Given the description of an element on the screen output the (x, y) to click on. 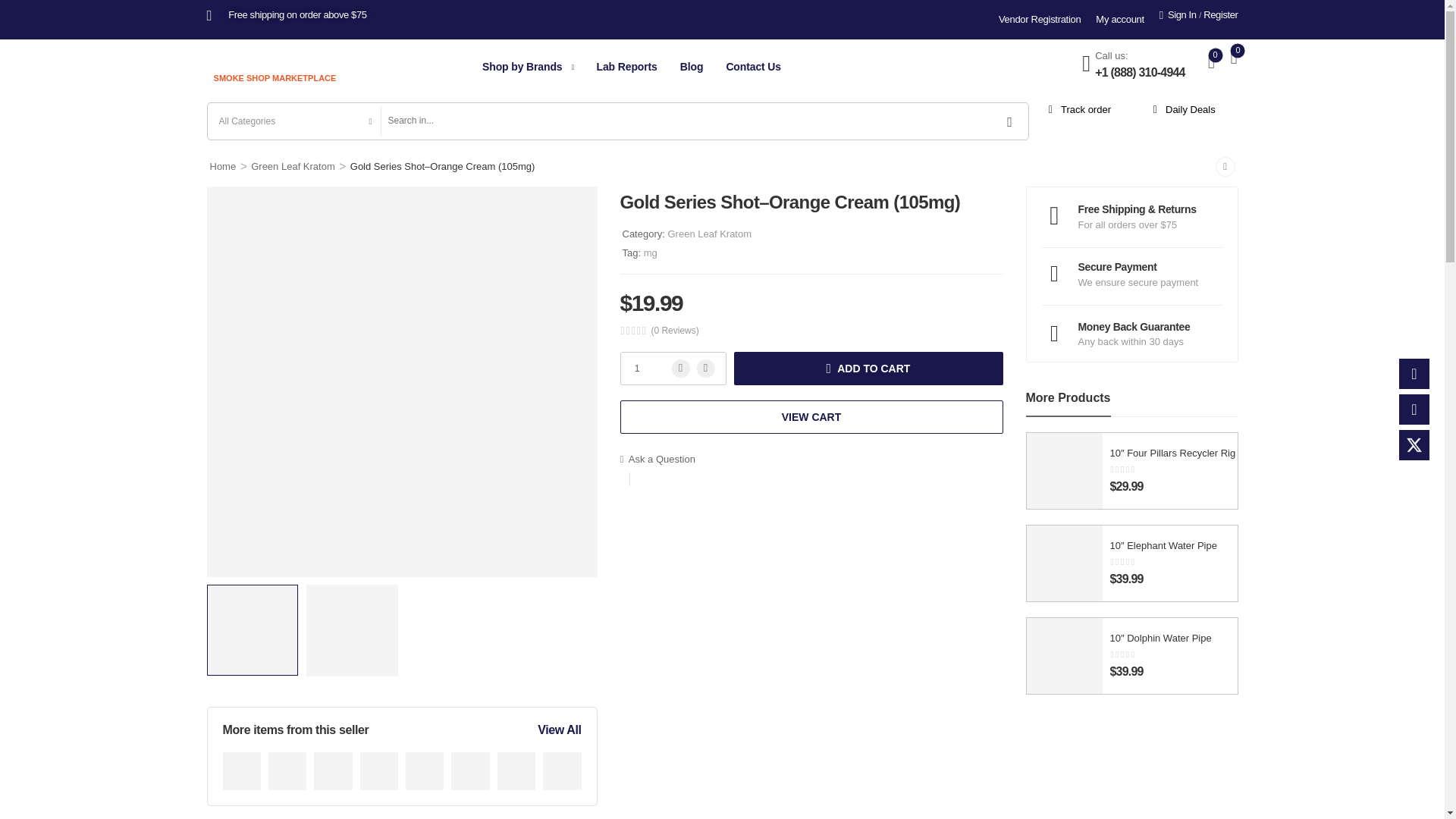
Daily Deals (1181, 109)
Facebook (1414, 373)
Qty (673, 368)
Register (1220, 15)
Minus (680, 368)
1 (673, 368)
Shop by Brands (521, 65)
Green Leaf Kratom (292, 165)
Vendor Registration (1039, 19)
Track order (1076, 109)
Sign In (1177, 15)
Contact Us (752, 65)
Plus (704, 368)
Home (222, 165)
